Given the description of an element on the screen output the (x, y) to click on. 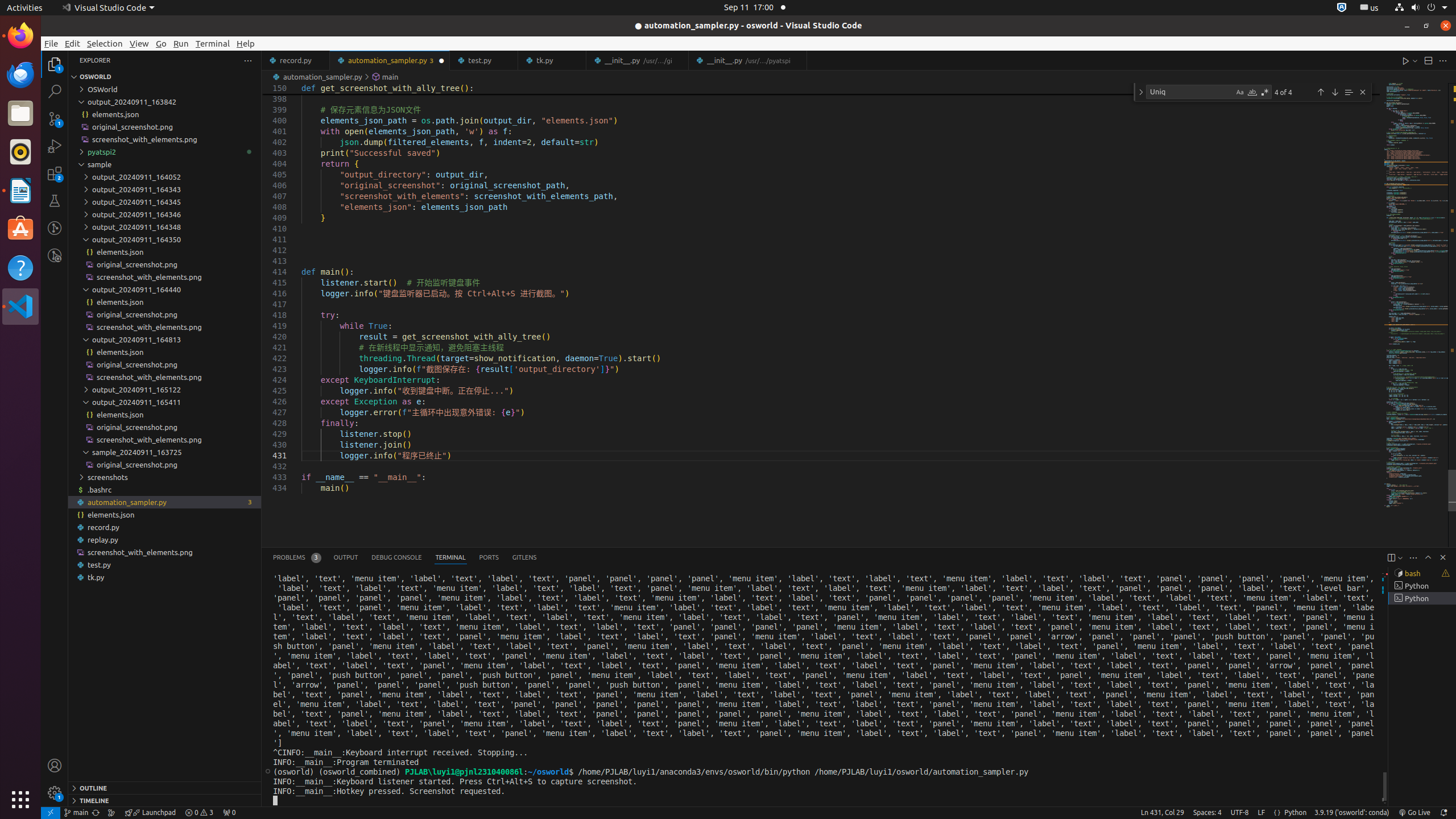
Maximize Panel Size Element type: check-box (1427, 557)
tk.py Element type: page-tab (552, 60)
Accounts Element type: push-button (54, 765)
Editor Language Status: Auto Import Completions: false, next: Type Checking: off Element type: push-button (1277, 812)
